Given the description of an element on the screen output the (x, y) to click on. 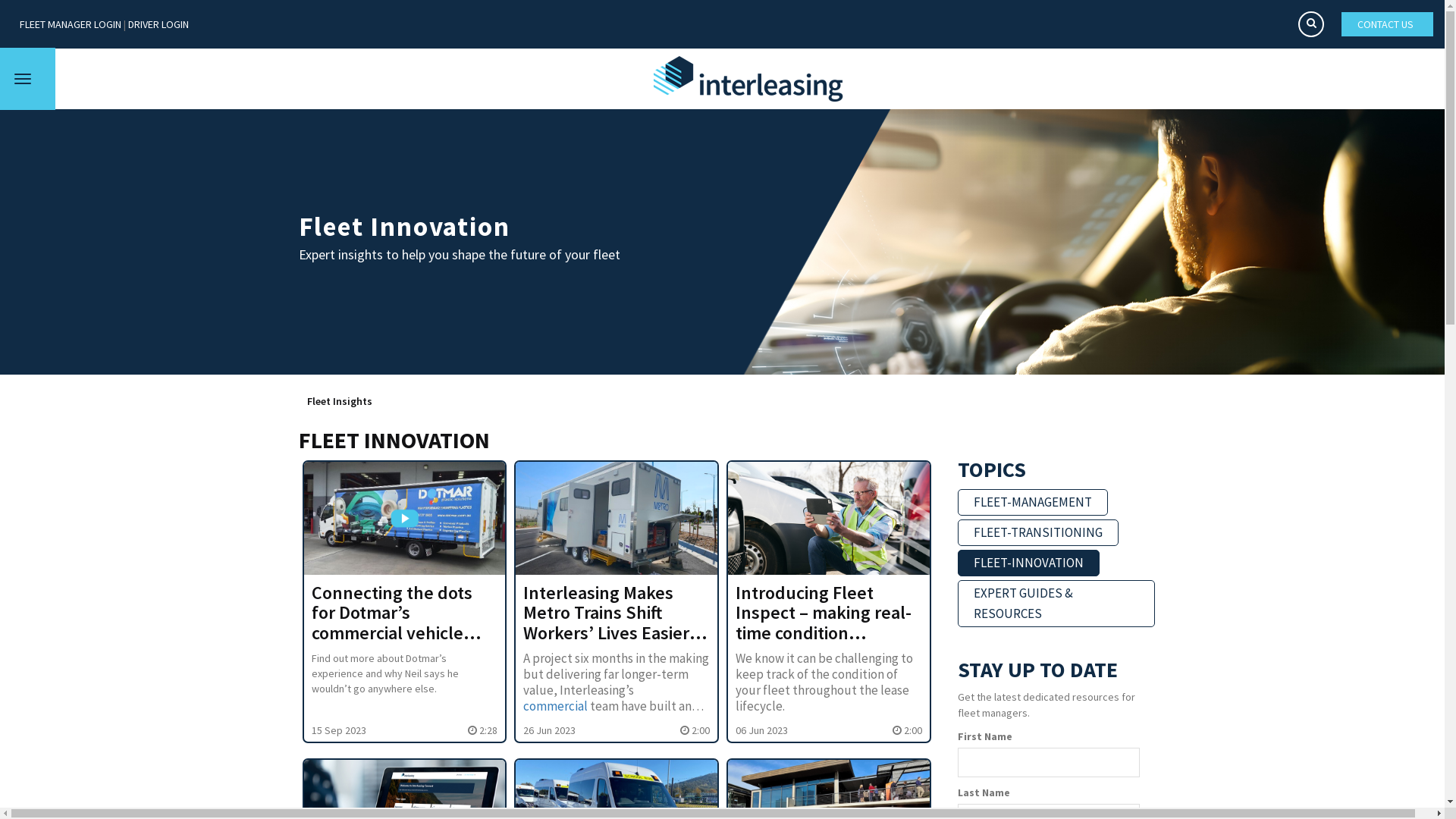
Fleet Insights Element type: text (338, 400)
EXPERT GUIDES & RESOURCES Element type: text (1055, 603)
FLEET-TRANSITIONING Element type: text (1037, 532)
FLEET INNOVATION Element type: text (393, 439)
commercial Element type: text (555, 705)
CONTACT US Element type: text (1387, 24)
FLEET-MANAGEMENT Element type: text (1032, 502)
FLEET-INNOVATION Element type: text (1028, 562)
FLEET MANAGER LOGIN Element type: text (70, 24)
Home Element type: hover (747, 78)
DRIVER LOGIN Element type: text (158, 24)
